Given the description of an element on the screen output the (x, y) to click on. 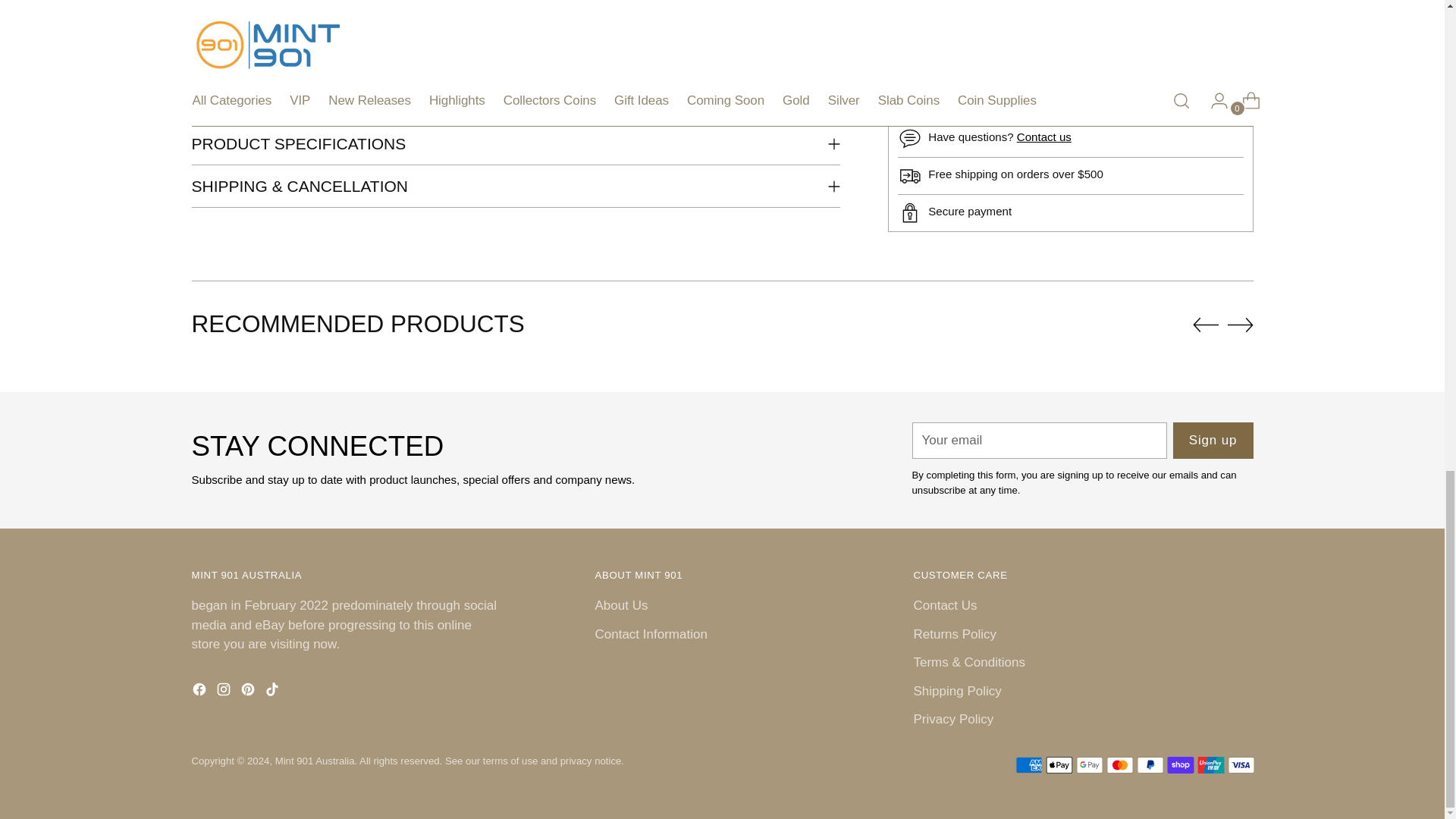
Mint 901 Australia on Facebook (199, 691)
Mint 901 Australia on Instagram (223, 691)
Mint 901 Australia on Tiktok (272, 691)
Mint 901 Australia on Pinterest (248, 691)
